Given the description of an element on the screen output the (x, y) to click on. 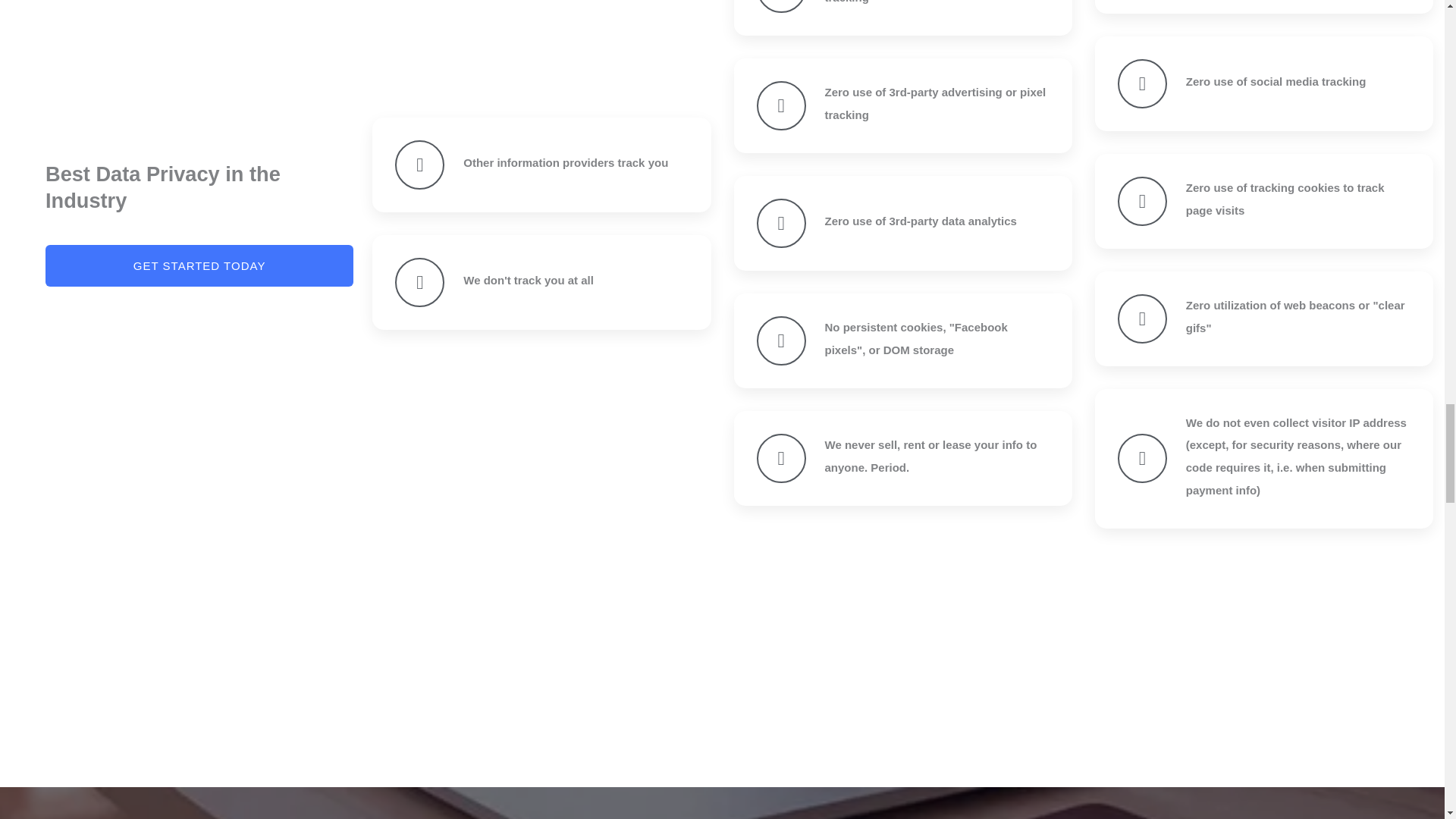
GET STARTED TODAY (199, 265)
We don't track you at all (528, 279)
Zero use of 3rd-party advertising or pixel tracking (935, 103)
Zero use of 3rd-party data analytics (920, 220)
No persistent cookies, "Facebook pixels", or DOM storage (916, 338)
Other information providers track you (565, 162)
We never sell, rent or lease your info to anyone. Period. (930, 456)
Zero location-based or geo-based tracking (916, 2)
